Given the description of an element on the screen output the (x, y) to click on. 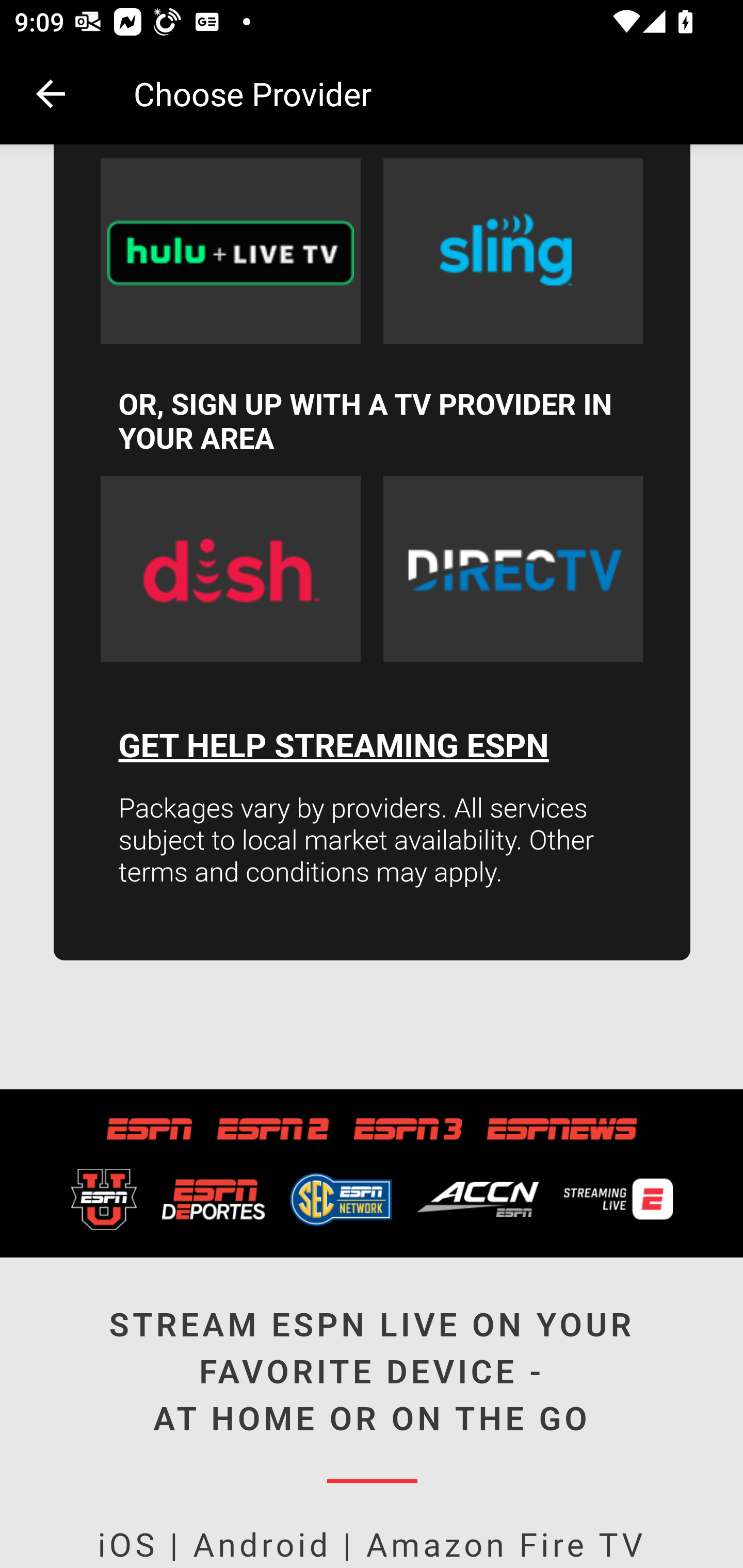
Navigate up (50, 93)
Hulu (230, 251)
Sling (513, 251)
Dish (230, 570)
DIRECTV (513, 570)
GET HELP STREAMING ESPN (333, 746)
